Given the description of an element on the screen output the (x, y) to click on. 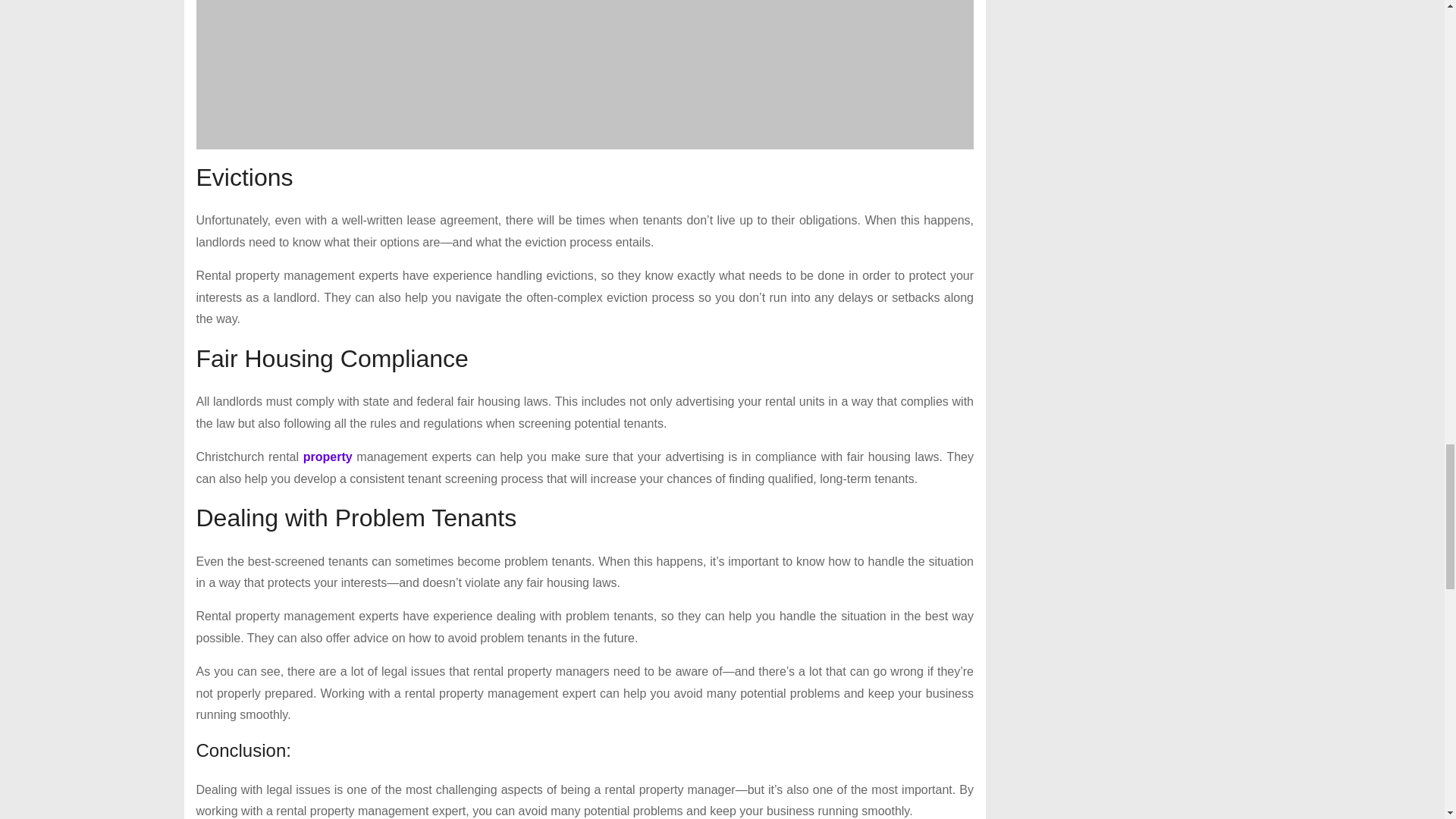
property (327, 456)
property (327, 456)
Christchurch Rental Property Management (584, 74)
